Given the description of an element on the screen output the (x, y) to click on. 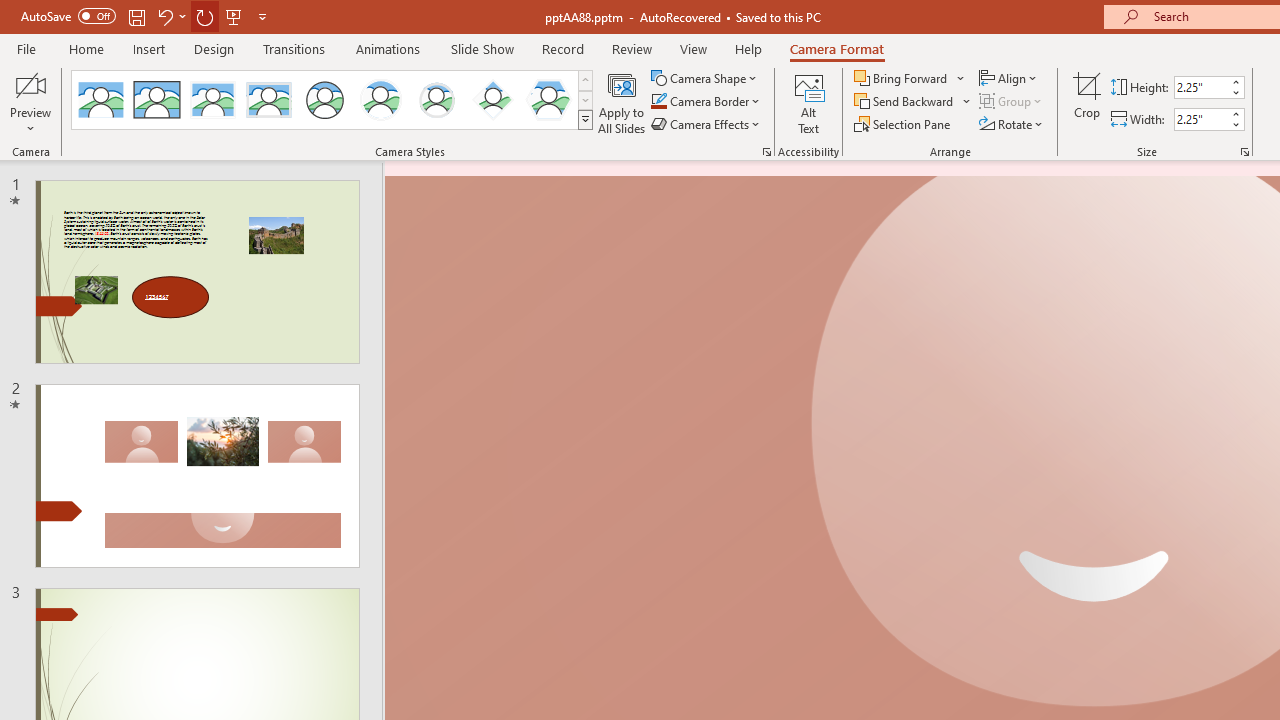
Align (1009, 78)
Enable Camera Preview (30, 84)
Soft Edge Rectangle (268, 100)
